Given the description of an element on the screen output the (x, y) to click on. 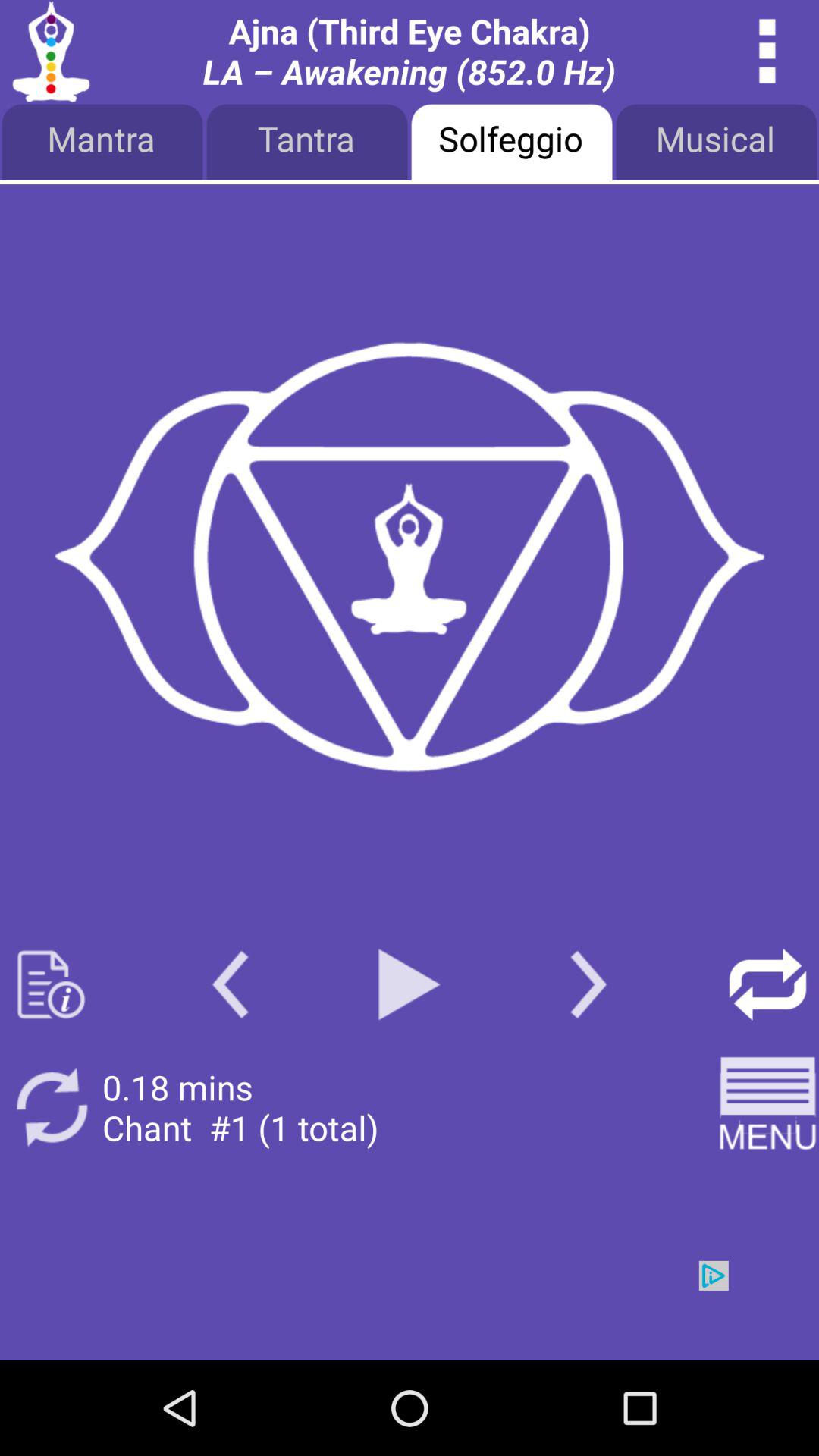
go to the next (588, 984)
